Given the description of an element on the screen output the (x, y) to click on. 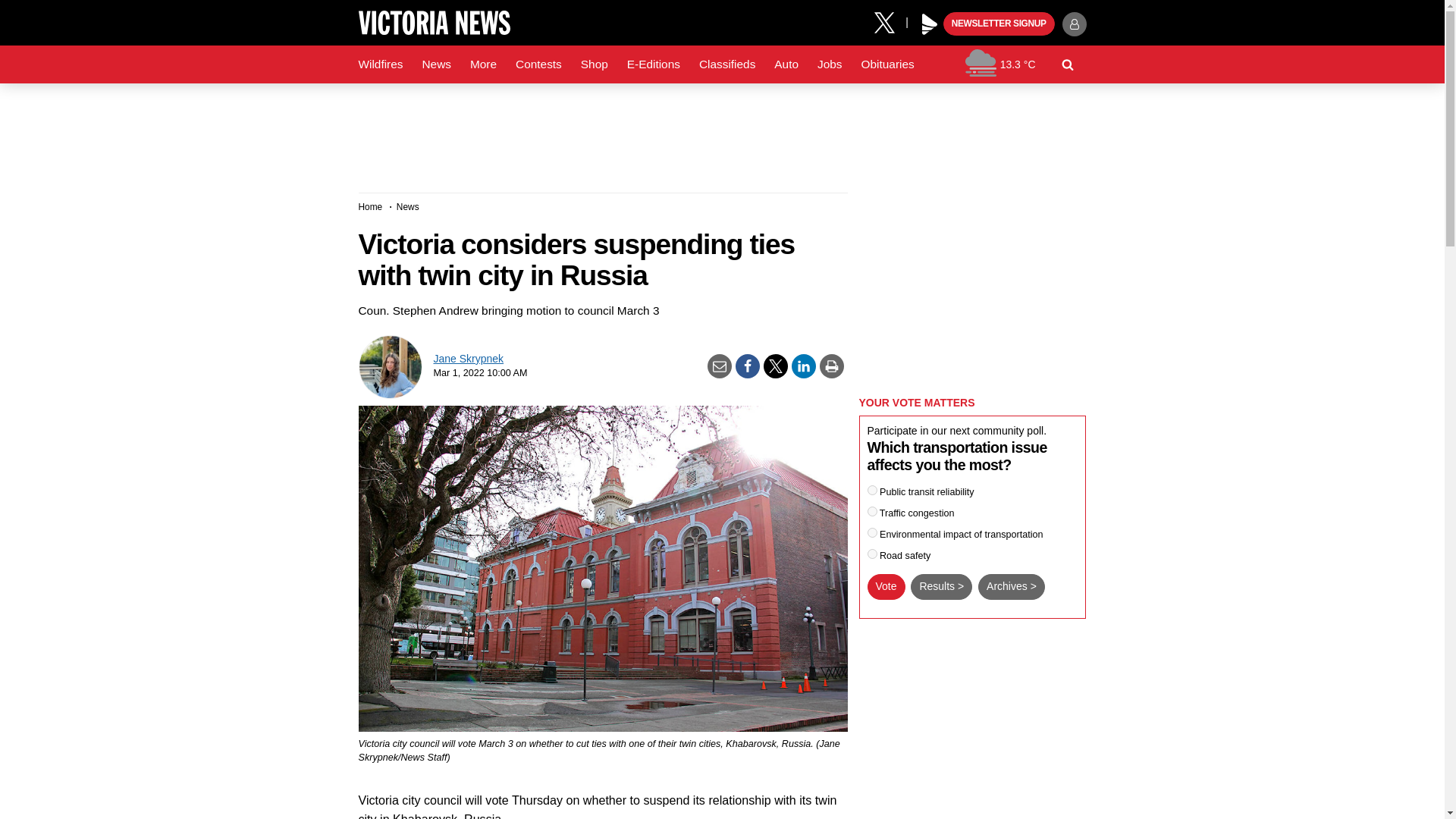
Play (929, 24)
Wildfires (380, 64)
News (435, 64)
Black Press Media (929, 24)
268 (872, 532)
X (889, 21)
265 (872, 490)
NEWSLETTER SIGNUP (998, 24)
266 (872, 511)
267 (872, 553)
